Given the description of an element on the screen output the (x, y) to click on. 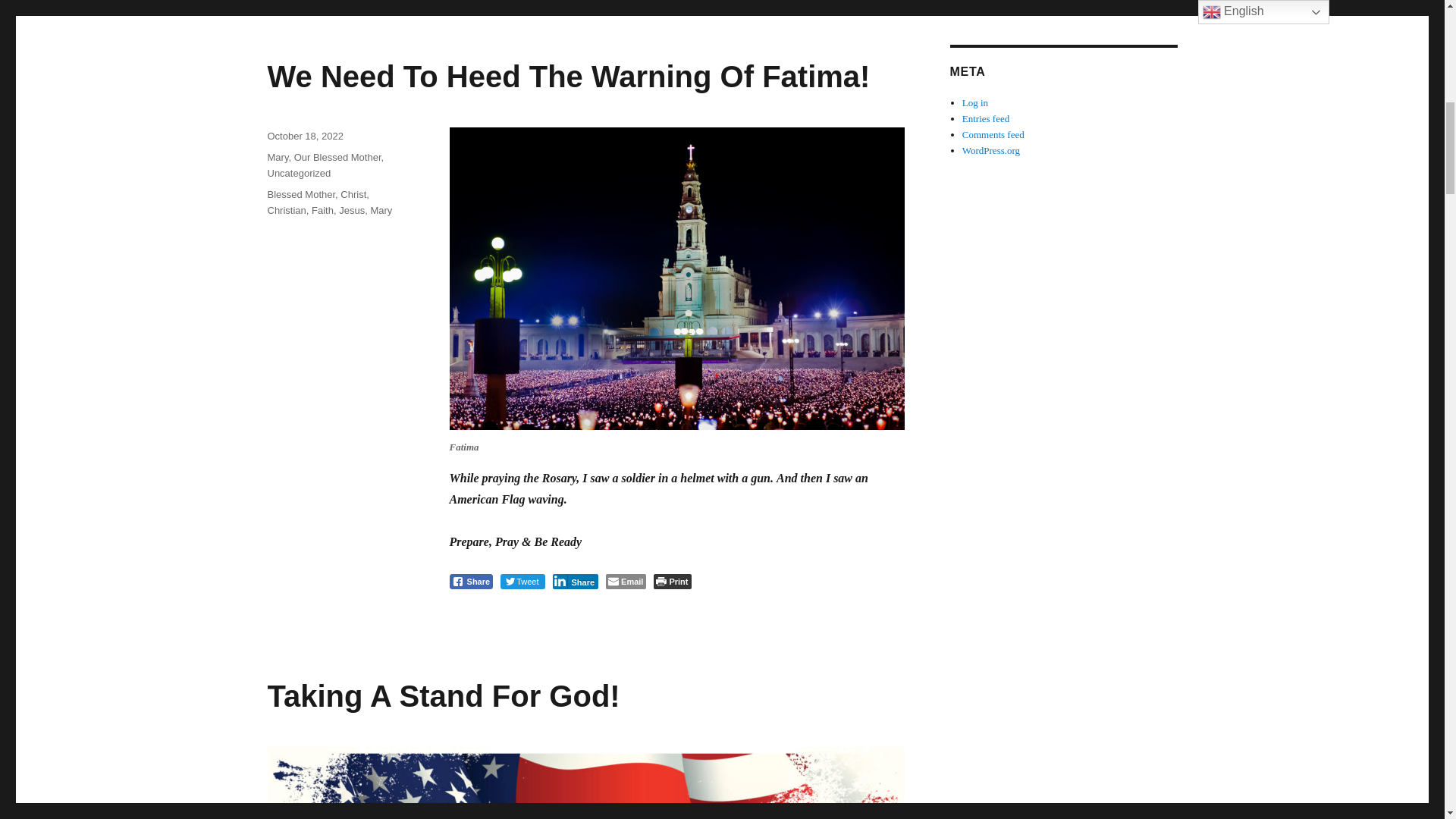
Faith (322, 210)
Email (625, 581)
October 18, 2022 (304, 135)
We Need To Heed The Warning Of Fatima! (567, 76)
Mary, Our Blessed Mother (323, 156)
Share (470, 581)
Jesus (352, 210)
Mary (380, 210)
Blessed Mother (300, 194)
Taking A Stand For God! (443, 695)
Tweet (522, 581)
Share (574, 581)
Uncategorized (298, 173)
Christian (285, 210)
